Given the description of an element on the screen output the (x, y) to click on. 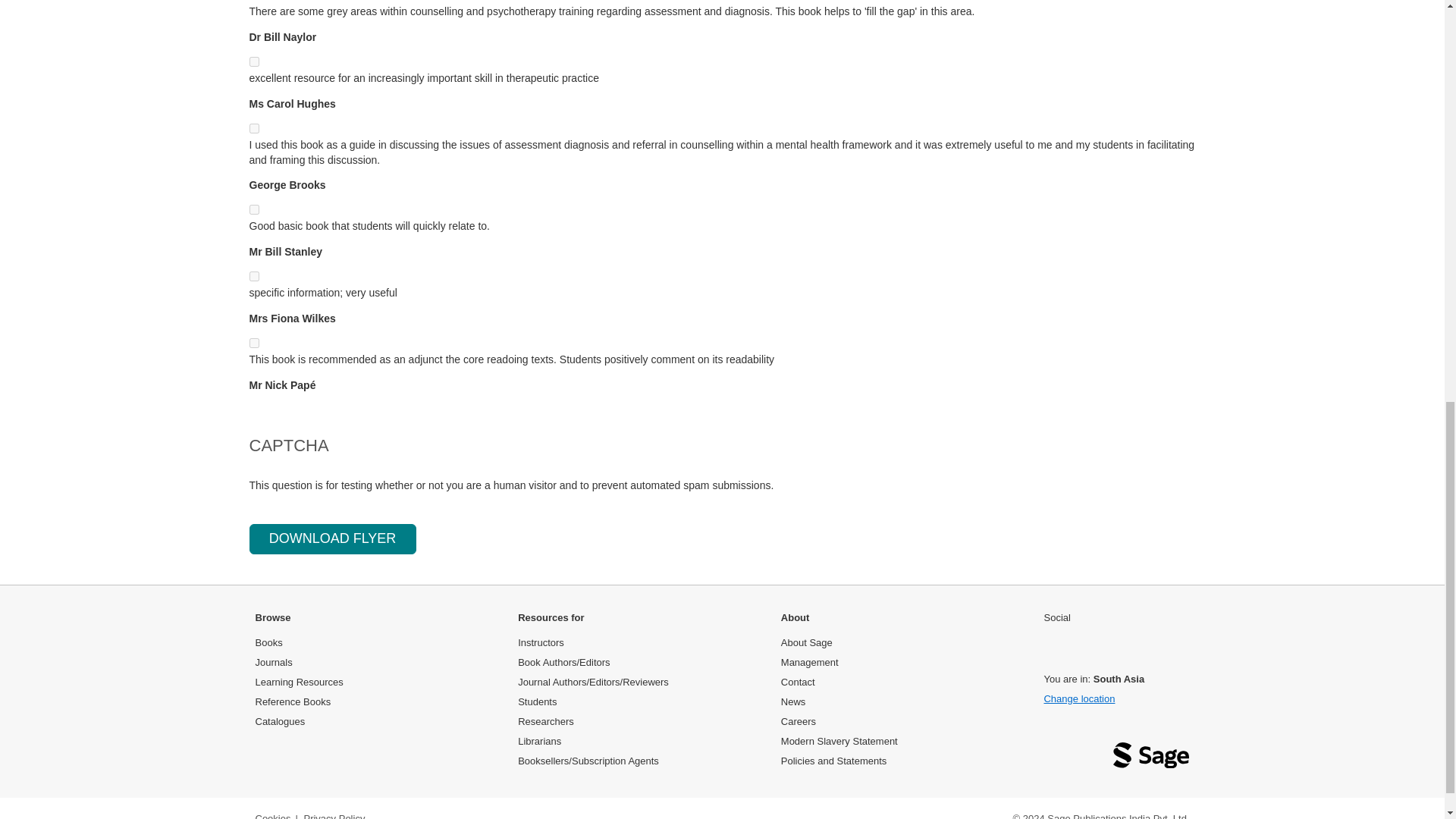
120476 (253, 276)
119362 (253, 128)
122035 (253, 209)
119524 (253, 343)
122922 (253, 61)
Download flyer (331, 539)
